Given the description of an element on the screen output the (x, y) to click on. 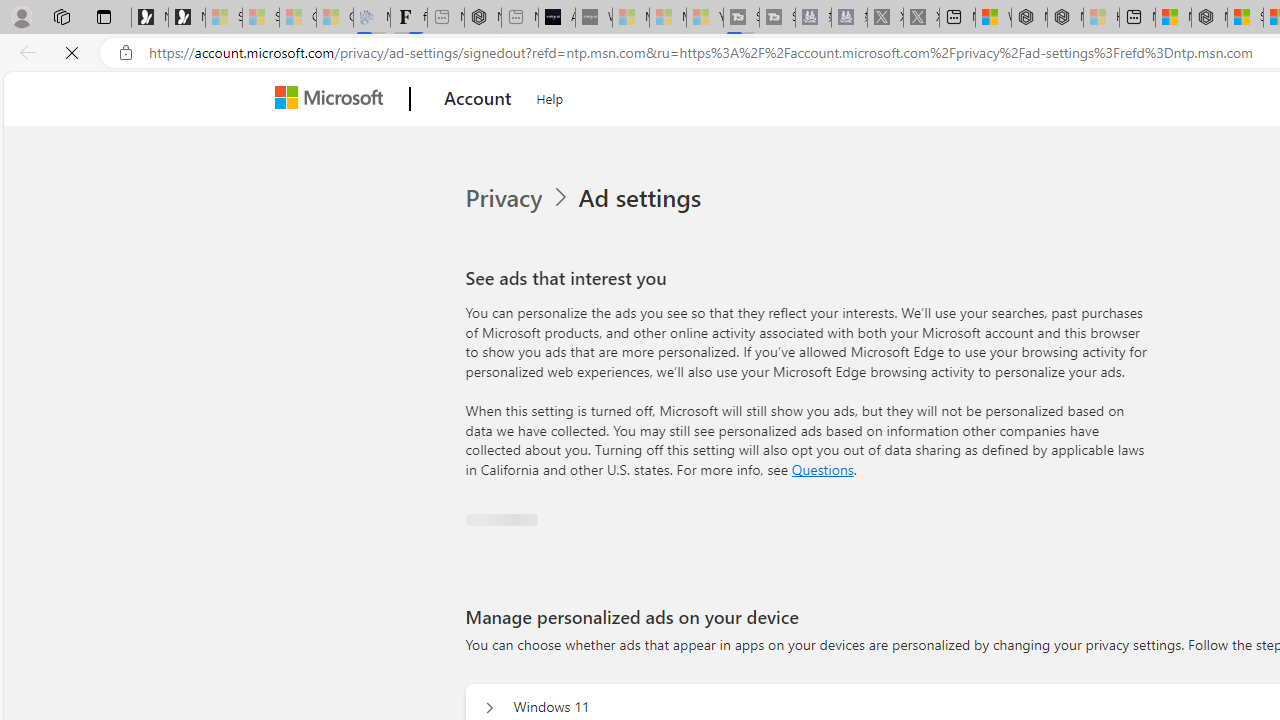
Nordace - Nordace Siena Is Not An Ordinary Backpack (1209, 17)
Microsoft Start Sports - Sleeping (630, 17)
X - Sleeping (921, 17)
Streaming Coverage | T3 - Sleeping (741, 17)
Nordace - #1 Japanese Best-Seller - Siena Smart Backpack (482, 17)
Wildlife - MSN (993, 17)
What's the best AI voice generator? - voice.ai - Sleeping (593, 17)
